Given the description of an element on the screen output the (x, y) to click on. 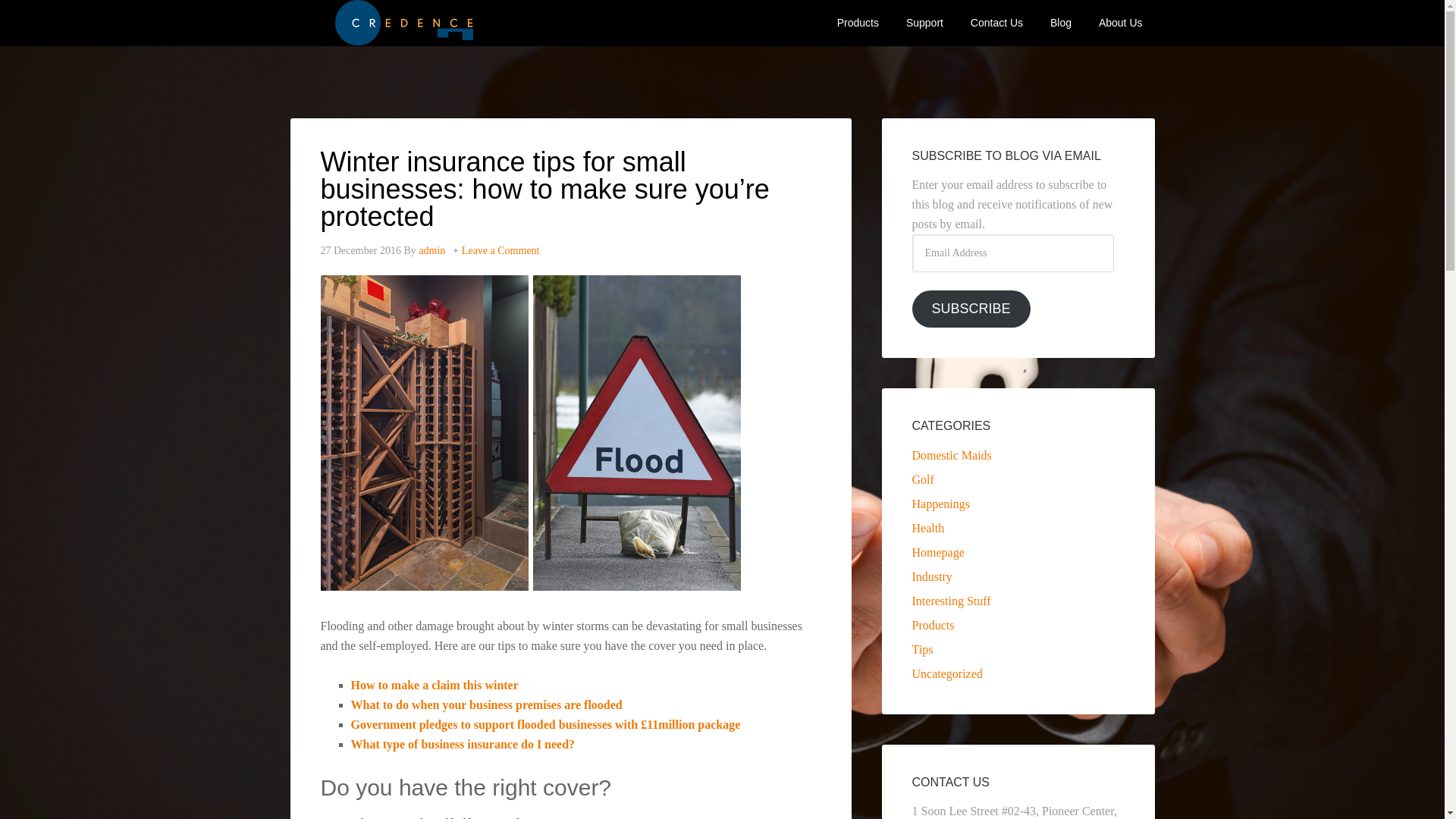
Support (924, 22)
Health (927, 527)
How to make a claim this winter (434, 684)
Leave a Comment (500, 250)
Golf (922, 479)
About Us (1120, 22)
admin (432, 250)
SUBSCRIBE (970, 308)
Domestic Maids (951, 454)
Happenings (940, 503)
Products (858, 22)
Contact Us (996, 22)
What type of business insurance do I need? (462, 743)
Blog (1060, 22)
What to do when your business premises are flooded (485, 703)
